Given the description of an element on the screen output the (x, y) to click on. 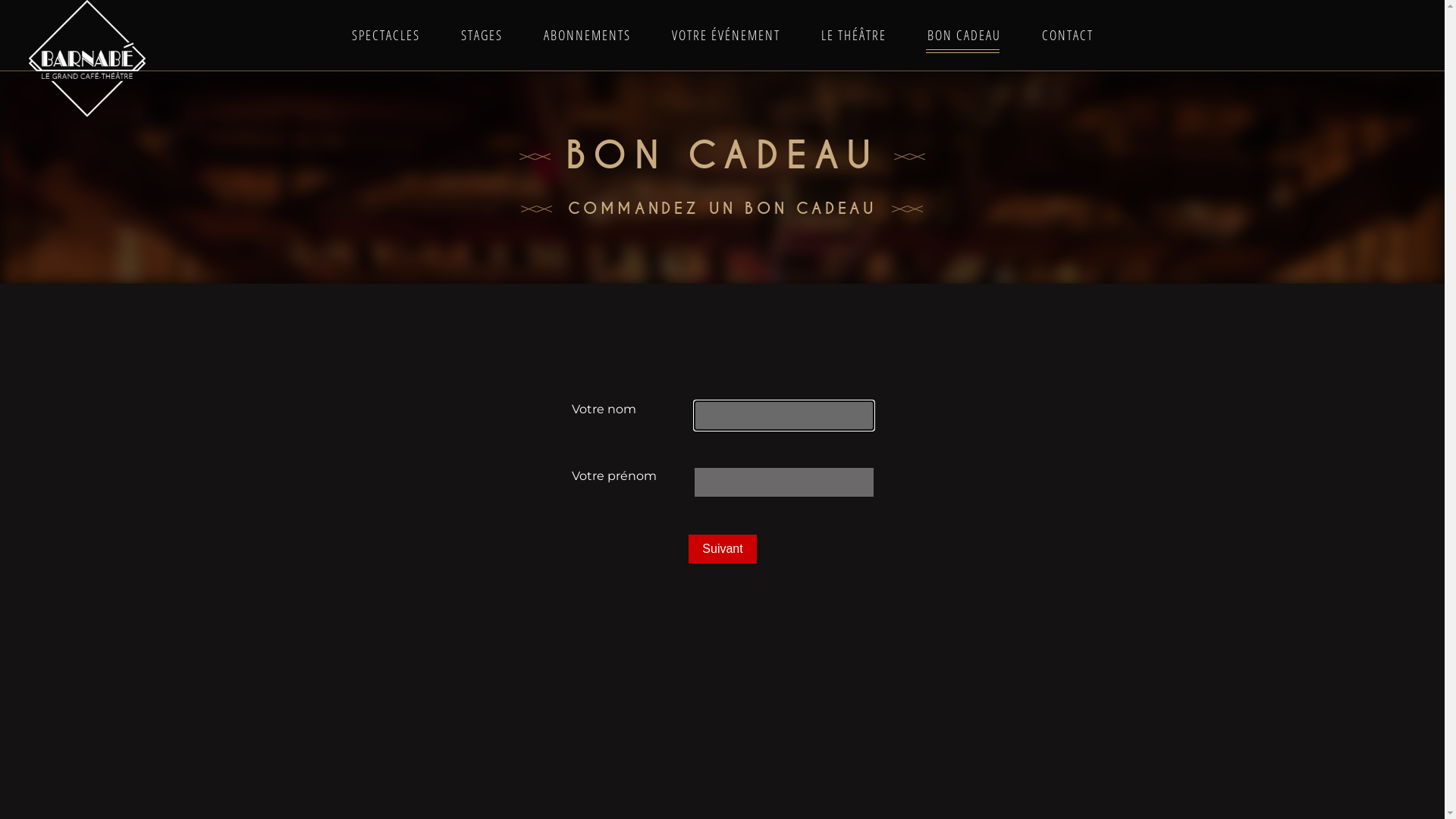
CONTACT Element type: text (1066, 34)
ABONNEMENTS Element type: text (587, 34)
BON CADEAU Element type: text (963, 34)
SPECTACLES Element type: text (384, 34)
STAGES Element type: text (480, 34)
